Given the description of an element on the screen output the (x, y) to click on. 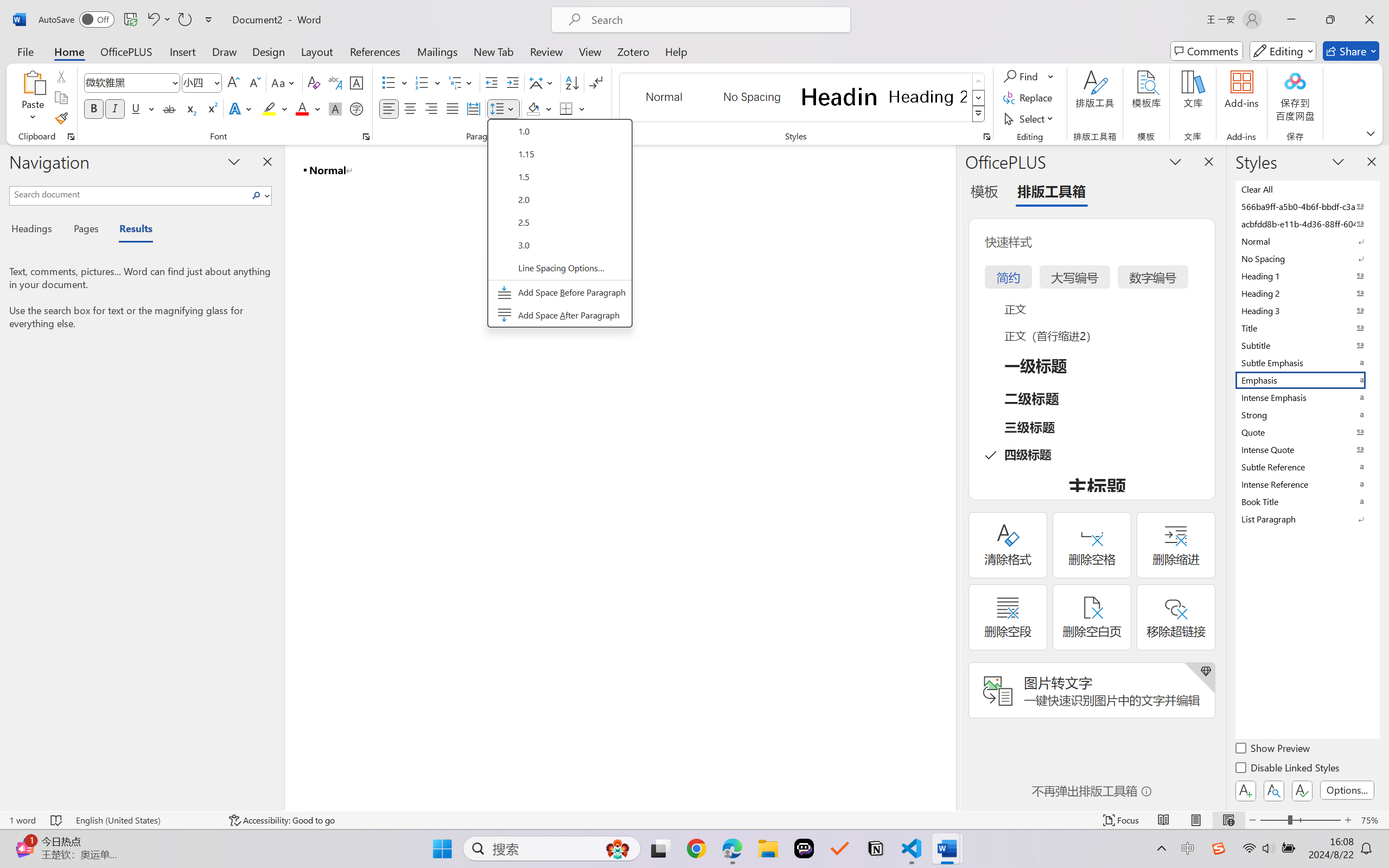
Bold (94, 108)
Minimize (1291, 19)
Font (126, 82)
Class: NetUIScrollBar (948, 477)
Phonetic Guide... (334, 82)
Copy (60, 97)
AutoSave (76, 19)
Font... (365, 136)
Borders (571, 108)
Mailings (437, 51)
acbfdd8b-e11b-4d36-88ff-6049b138f862 (1306, 223)
Paste (33, 81)
